Given the description of an element on the screen output the (x, y) to click on. 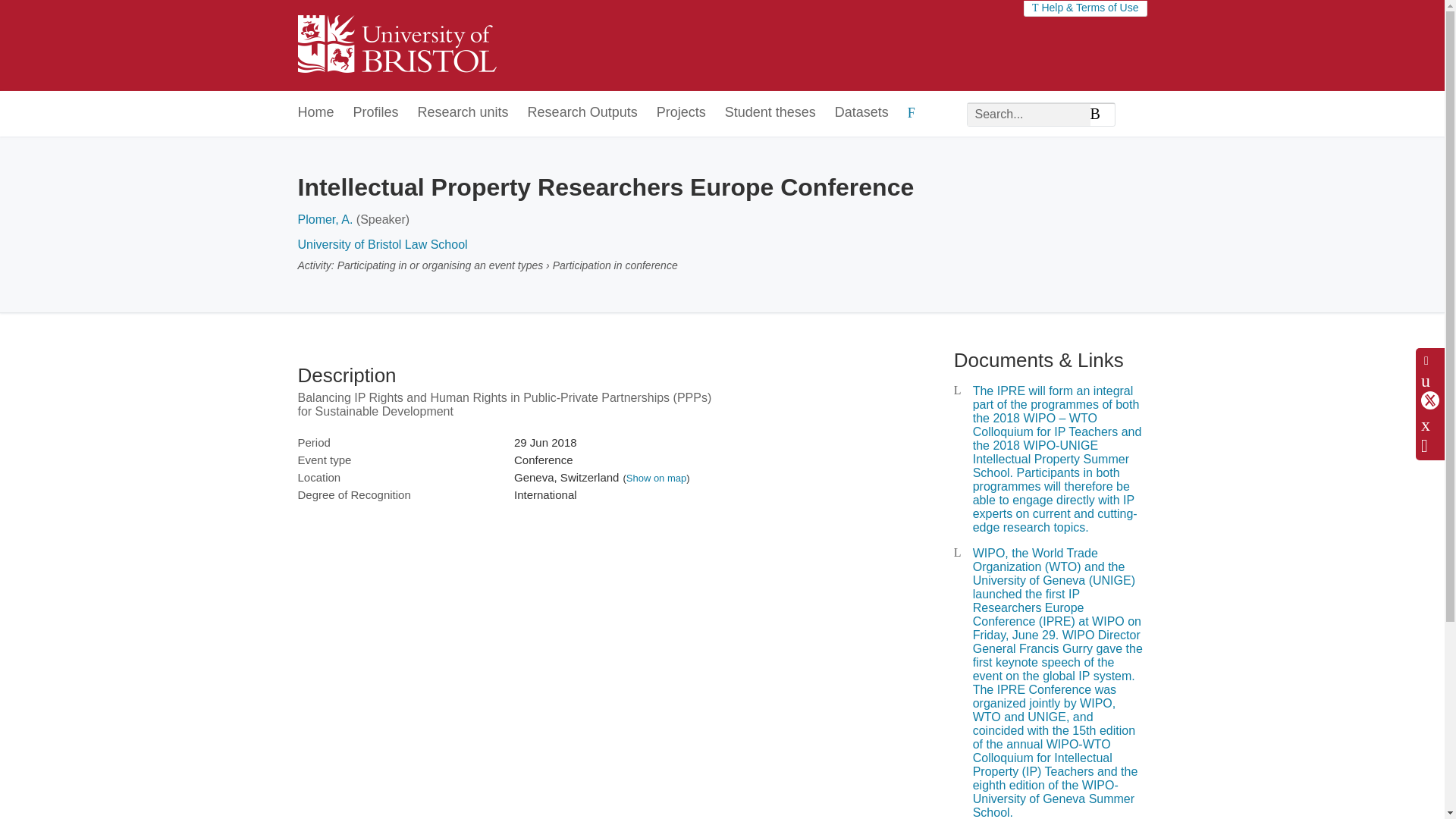
Student theses (770, 112)
Projects (681, 112)
University of Bristol Law School (382, 244)
Datasets (861, 112)
X (1430, 400)
Profiles (375, 112)
Show on map (656, 478)
Research Outputs (582, 112)
University of Bristol Home (396, 45)
Plomer, A. (324, 219)
Research units (462, 112)
